Given the description of an element on the screen output the (x, y) to click on. 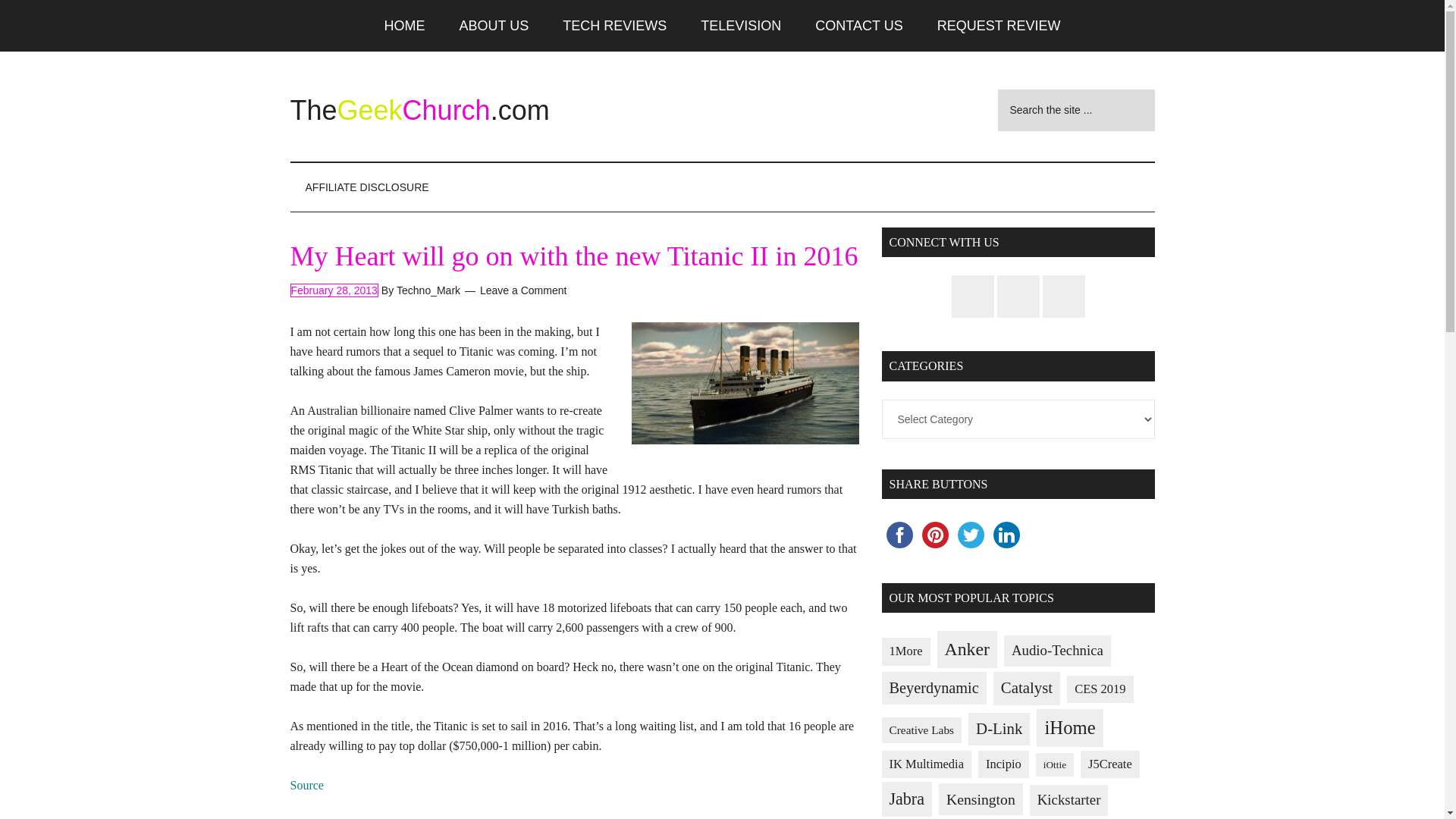
AFFILIATE DISCLOSURE (366, 186)
Source (306, 784)
Leave a Comment (523, 290)
titanic-II-0 (744, 383)
ABOUT US (494, 25)
REQUEST REVIEW (998, 25)
TECH REVIEWS (614, 25)
HOME (405, 25)
